Given the description of an element on the screen output the (x, y) to click on. 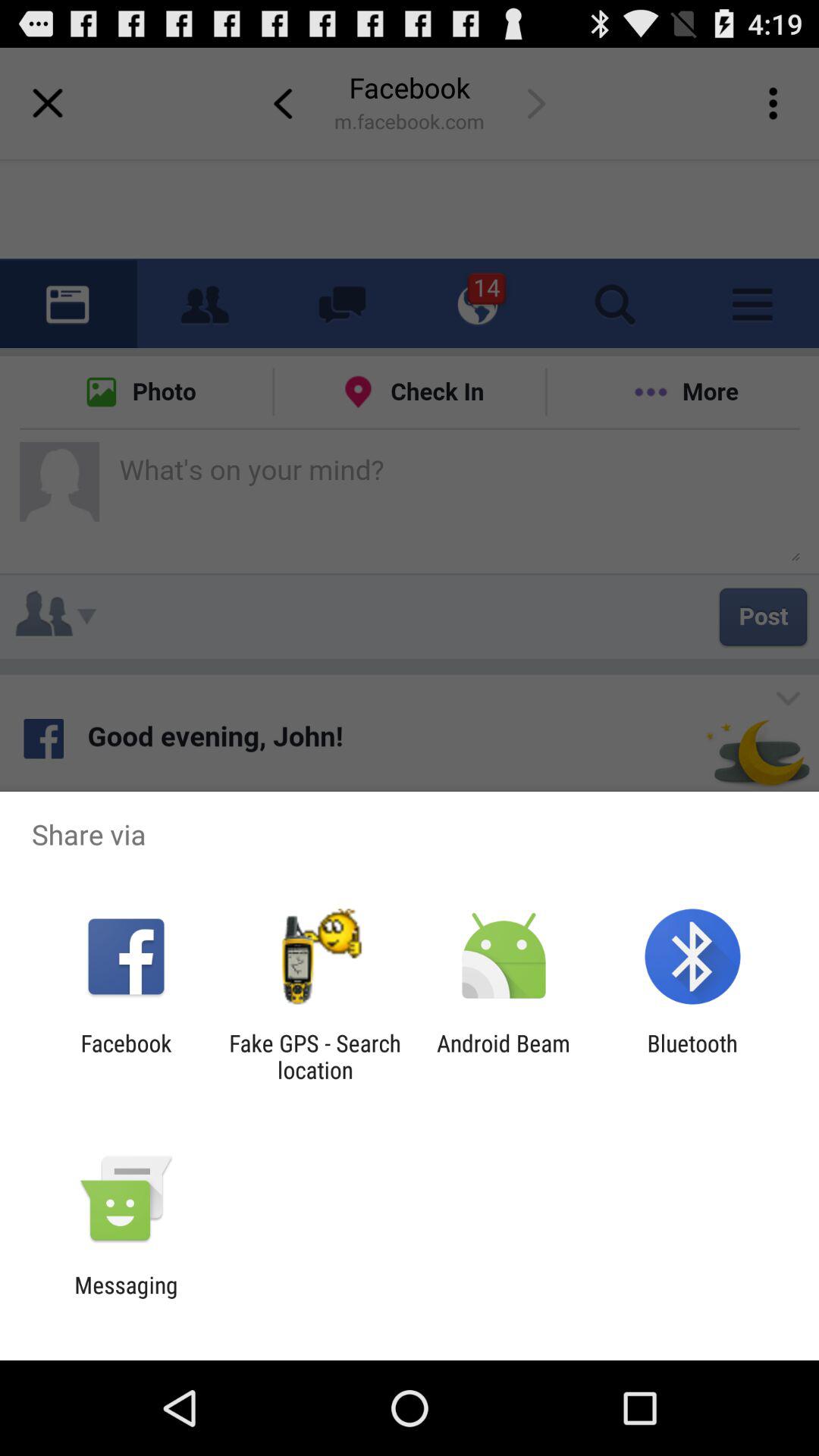
open icon to the right of the facebook app (314, 1056)
